Given the description of an element on the screen output the (x, y) to click on. 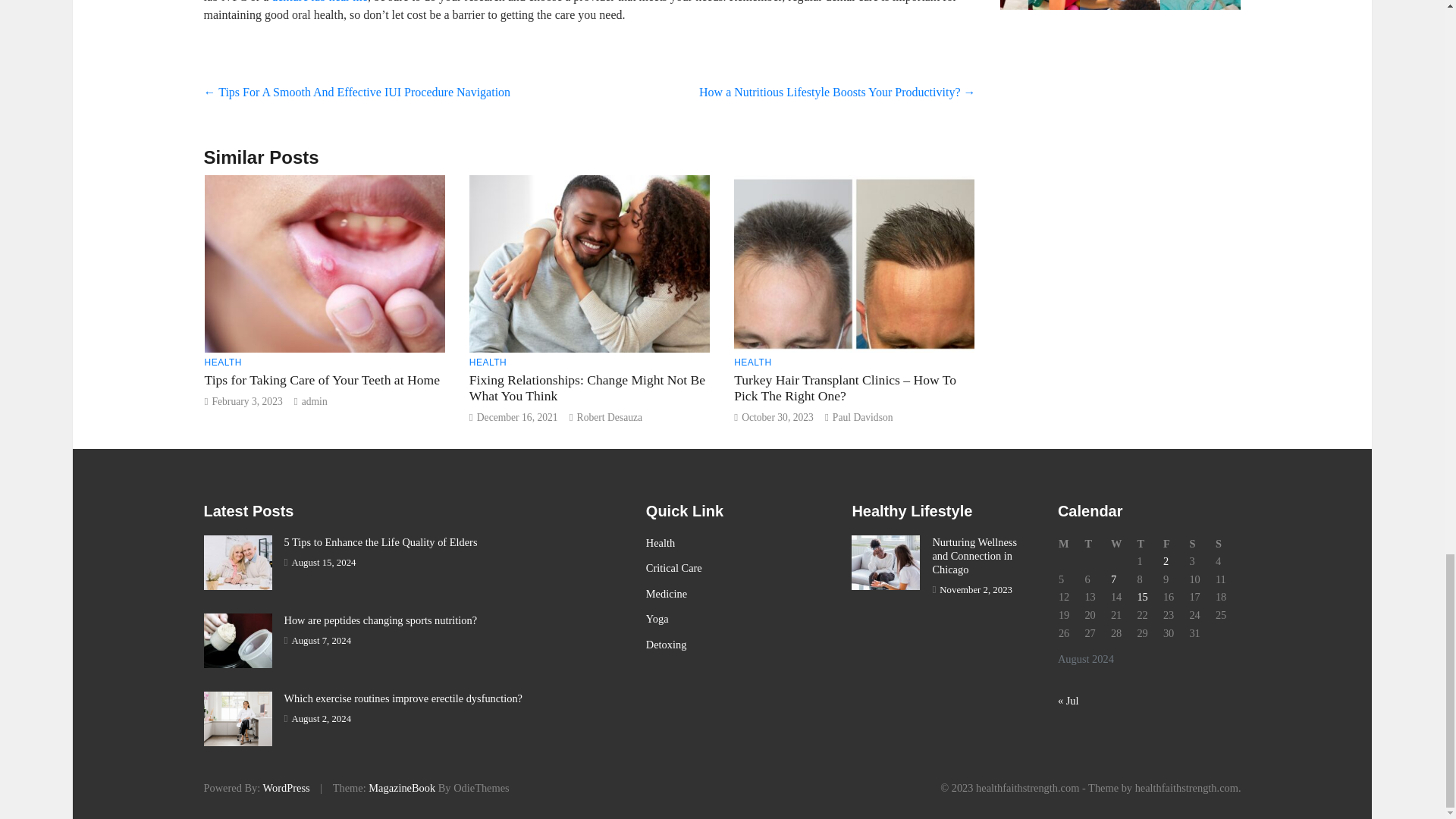
Wednesday (1123, 544)
Monday (1071, 544)
Paul Davidson (862, 417)
HEALTH (752, 362)
Friday (1175, 544)
Sunday (1227, 544)
Thursday (1148, 544)
Tuesday (1096, 544)
HEALTH (487, 362)
admin (314, 401)
